Given the description of an element on the screen output the (x, y) to click on. 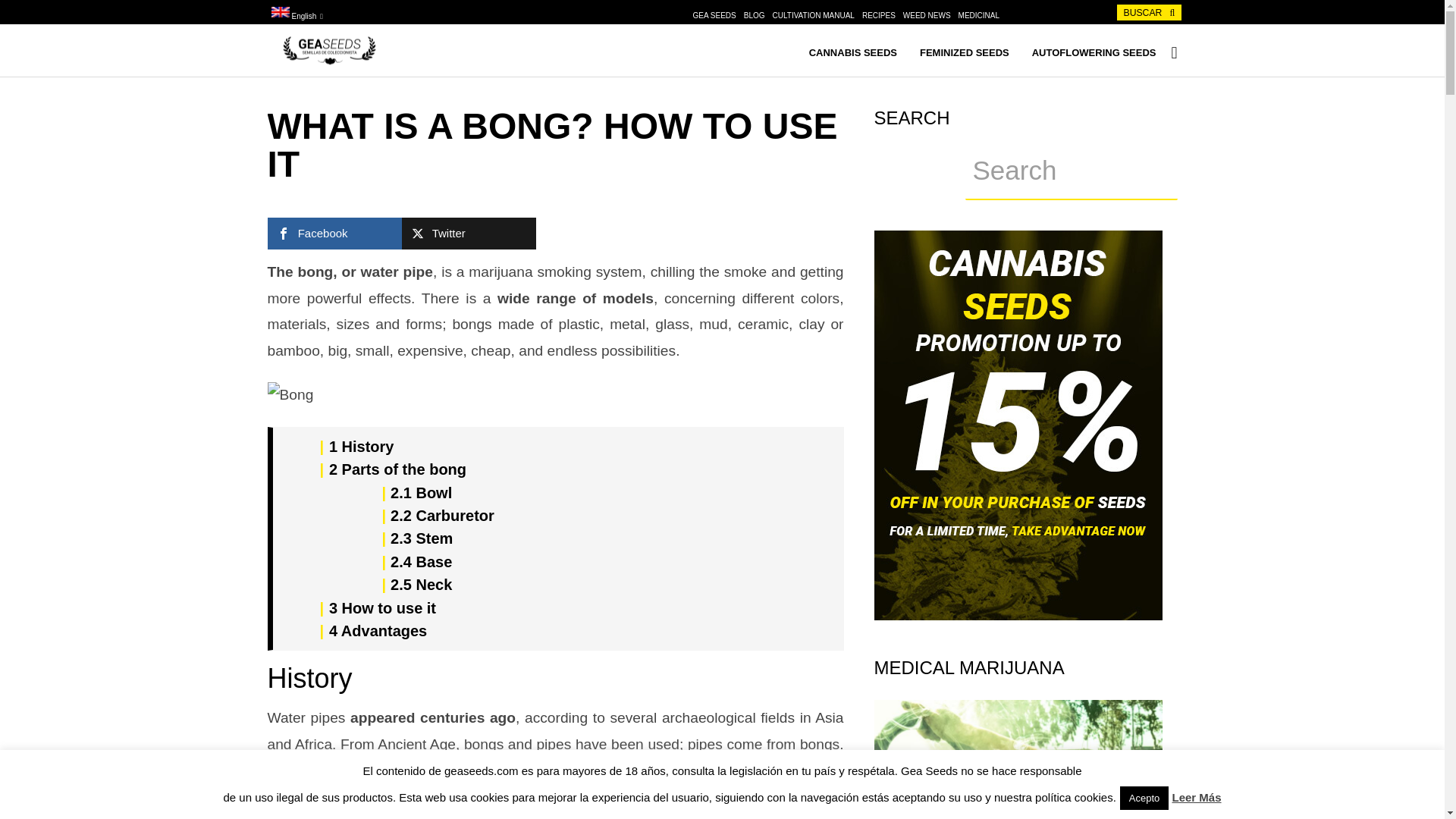
Twitter (468, 233)
WEED NEWS (926, 15)
Buy Feminized Seeds (964, 54)
Buy Autoflowering Seeds (1094, 54)
FEMINIZED SEEDS (964, 54)
2.1 Bowl (420, 492)
Buy Weed Seeds (853, 54)
Facebook (333, 233)
Blog Cannabico de GeaSeeds (328, 61)
1 History (361, 446)
CANNABIS SEEDS (853, 54)
BUSCAR (1148, 12)
BLOG (754, 15)
GEA SEEDS (714, 15)
CULTIVATION MANUAL (813, 15)
